Given the description of an element on the screen output the (x, y) to click on. 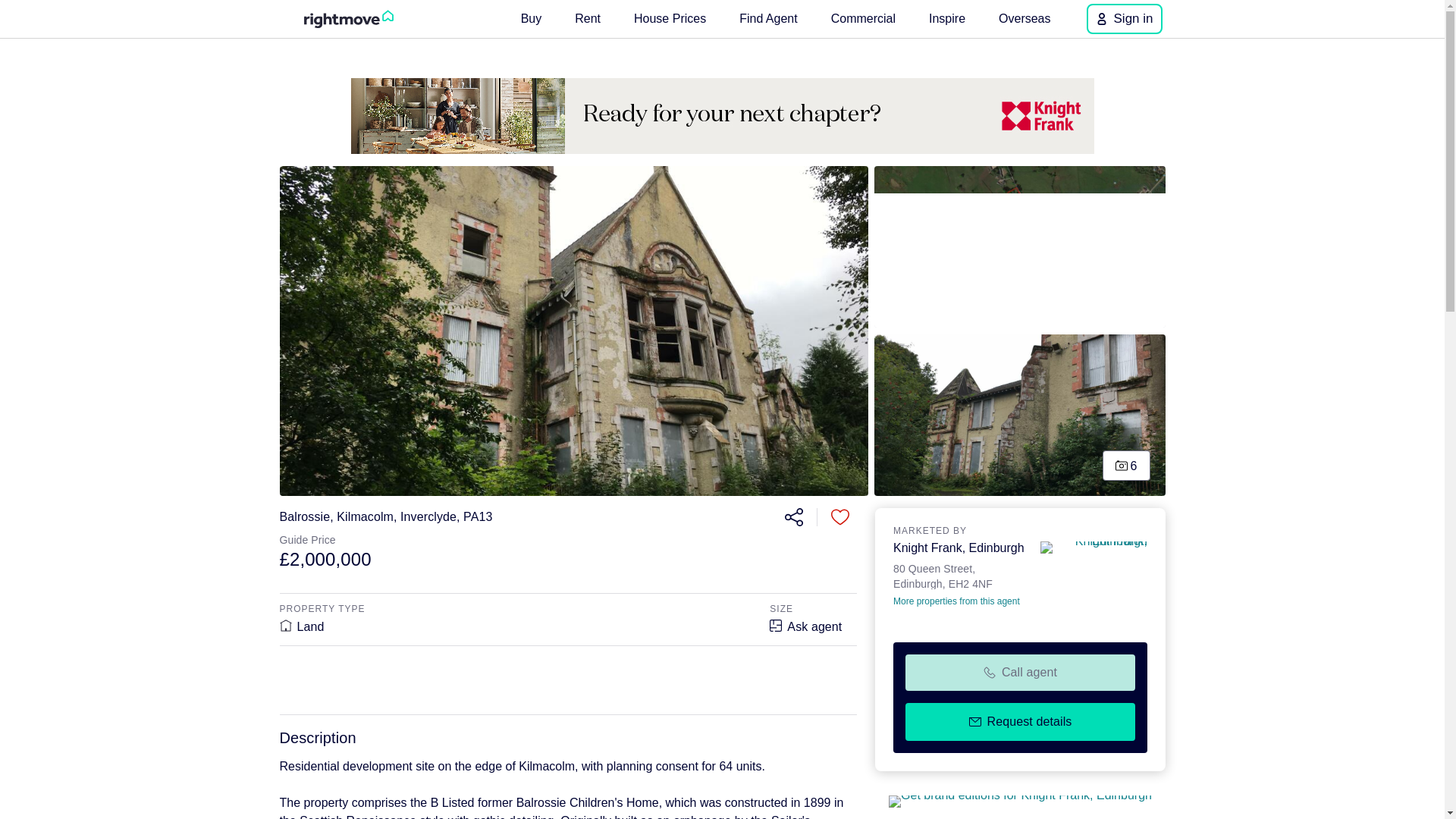
Share this property (792, 516)
Photo 2 (1020, 246)
Rent (588, 18)
House Prices (960, 574)
Commercial (669, 18)
Inspire (863, 18)
Photo 3 (947, 18)
Buy (1020, 415)
Find Agent (531, 18)
